Given the description of an element on the screen output the (x, y) to click on. 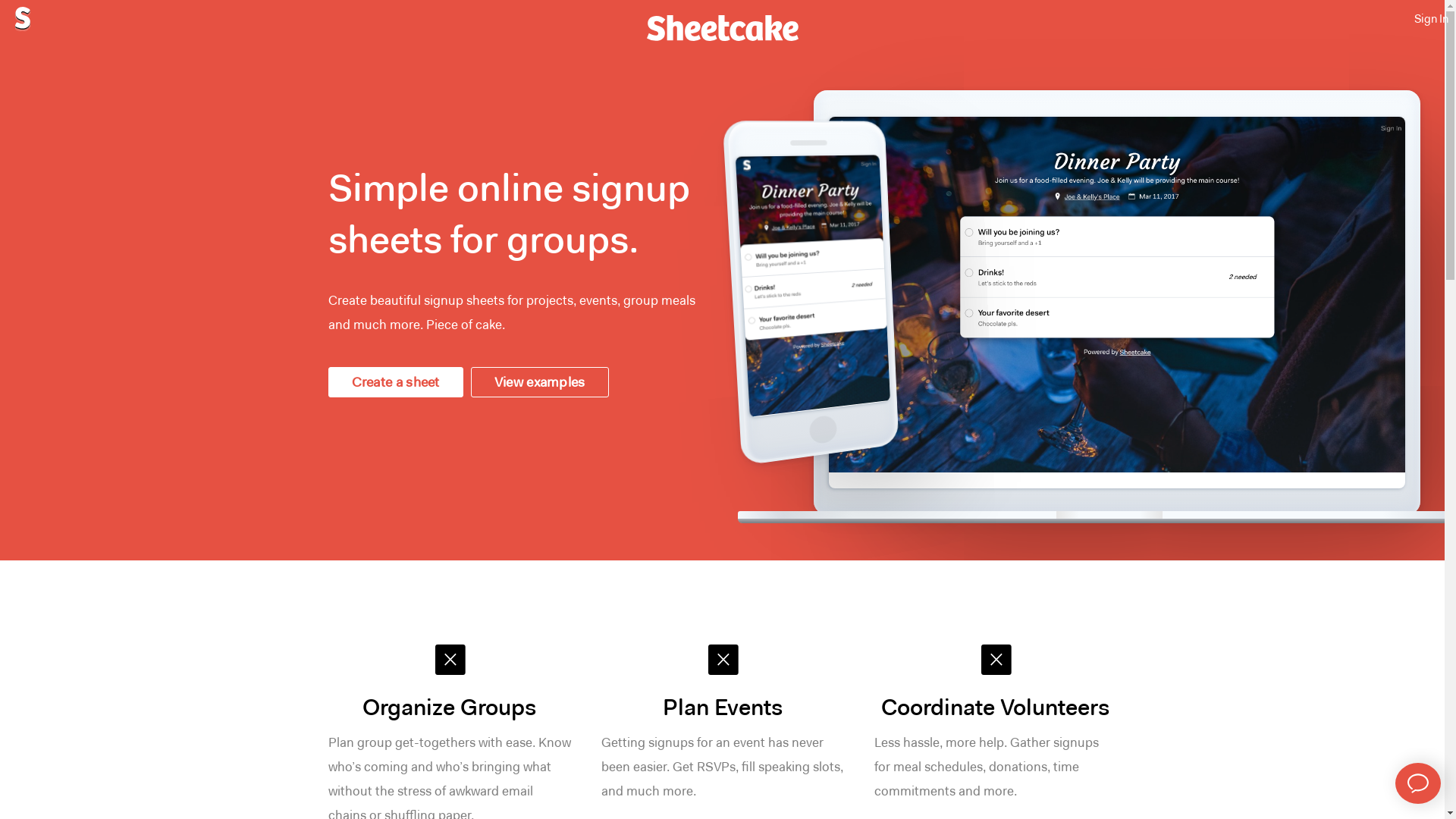
Sign In Element type: text (1431, 19)
Create a sheet Element type: text (394, 382)
View examples Element type: text (539, 382)
